Given the description of an element on the screen output the (x, y) to click on. 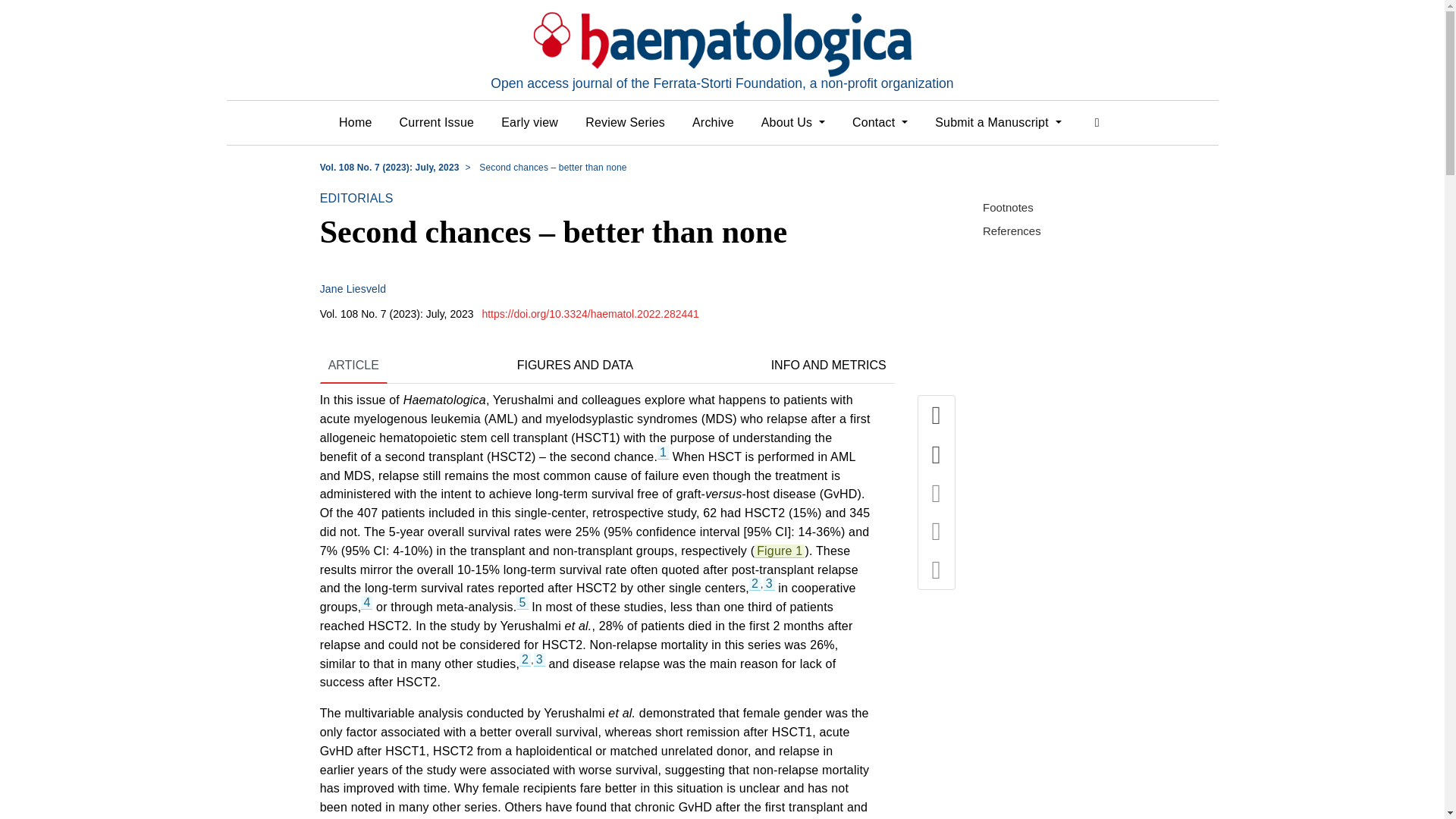
About Us (793, 122)
Contact (879, 122)
ARTICLE (353, 366)
Review Series (625, 122)
Jane Liesveld (353, 287)
Submit a Manuscript (997, 122)
Archive (712, 122)
Early view (529, 122)
Current Issue (436, 122)
Home (355, 122)
FIGURES AND DATA (575, 366)
Figure 1 (779, 550)
INFO AND METRICS (828, 366)
